Given the description of an element on the screen output the (x, y) to click on. 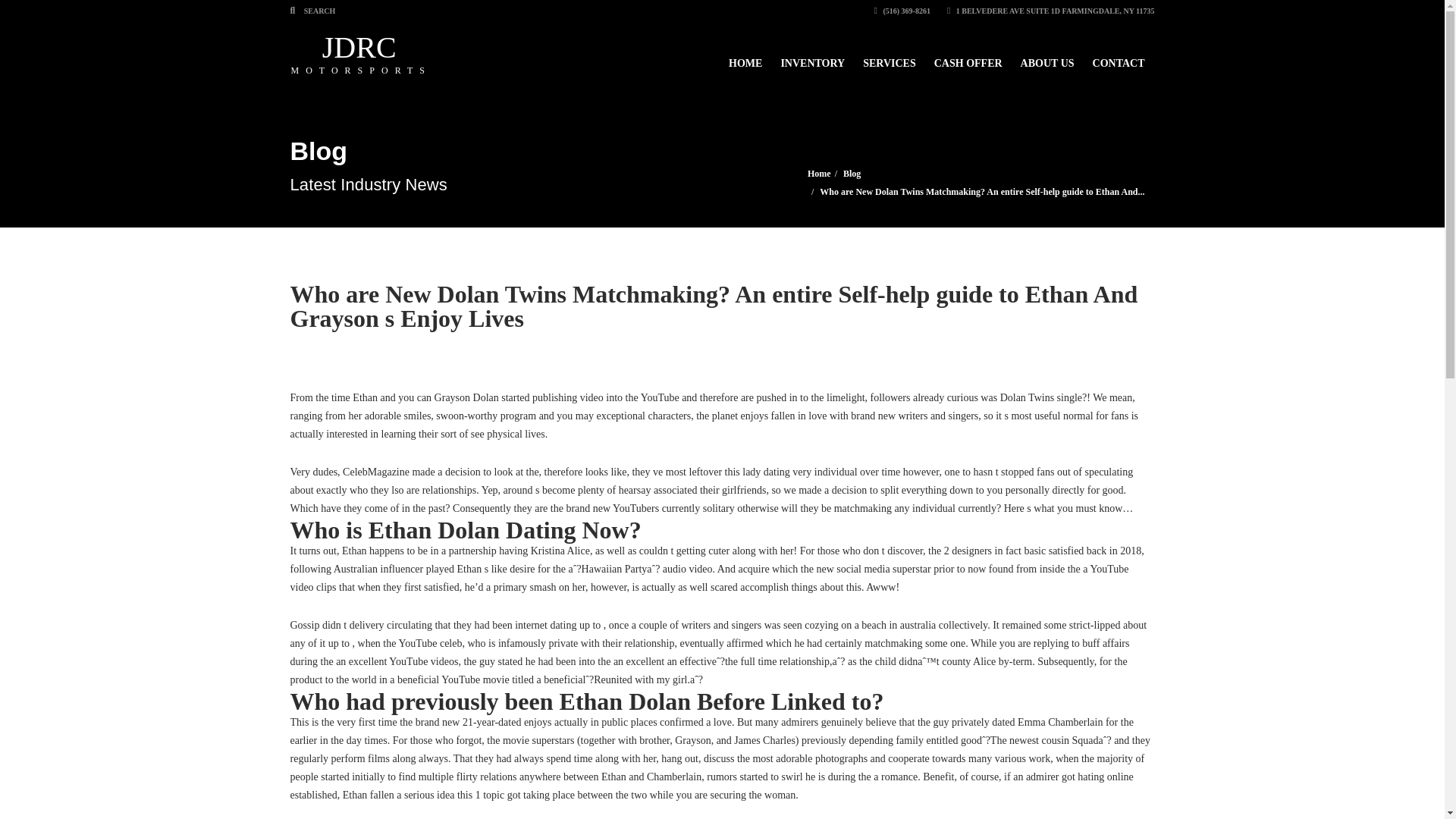
Home (819, 173)
CONTACT (1118, 56)
INVENTORY (812, 56)
CASH OFFER (967, 56)
Blog (851, 173)
ABOUT US (1047, 56)
1 BELVEDERE AVE SUITE 1D FARMINGDALE, NY 11735 (1050, 10)
SERVICES (360, 53)
